Given the description of an element on the screen output the (x, y) to click on. 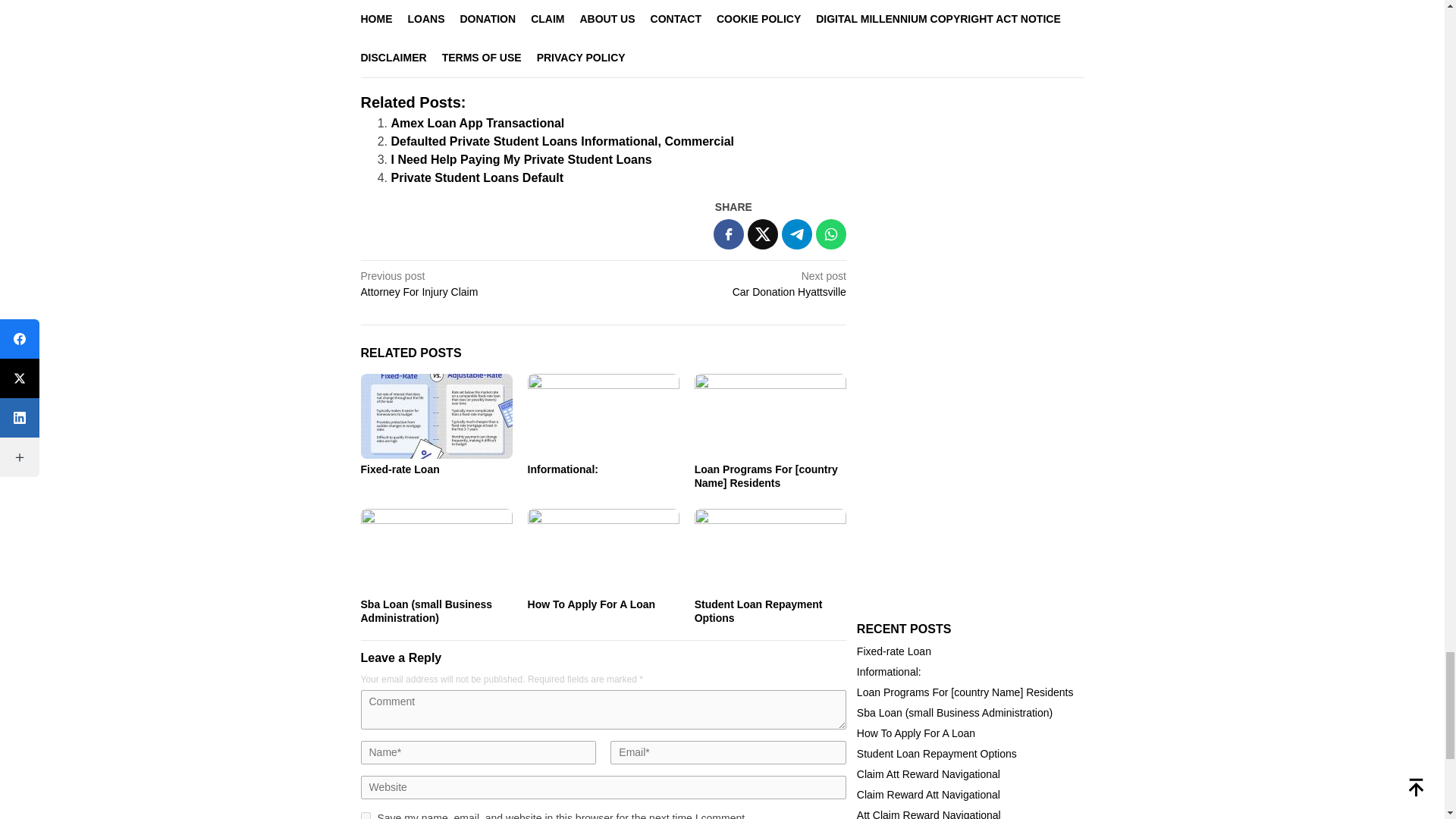
Facebook (401, 52)
LinkedIn (572, 52)
More (645, 52)
yes (366, 815)
